Given the description of an element on the screen output the (x, y) to click on. 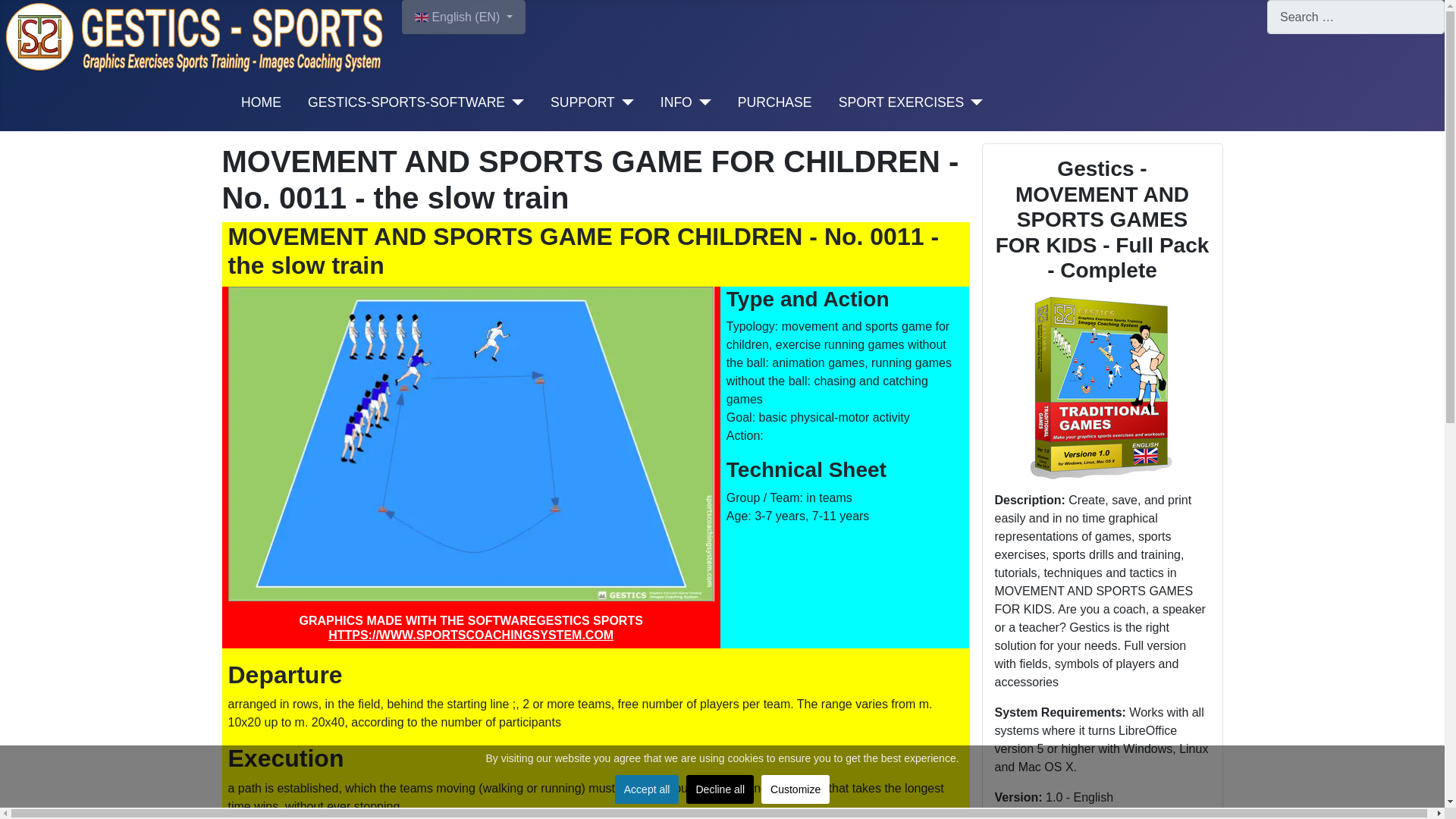
GESTICS-SPORTS-SOFTWARE (406, 102)
HOME (261, 102)
SPORT EXERCISES (900, 102)
PURCHASE (775, 102)
INFO (677, 102)
SUPPORT (582, 102)
